Given the description of an element on the screen output the (x, y) to click on. 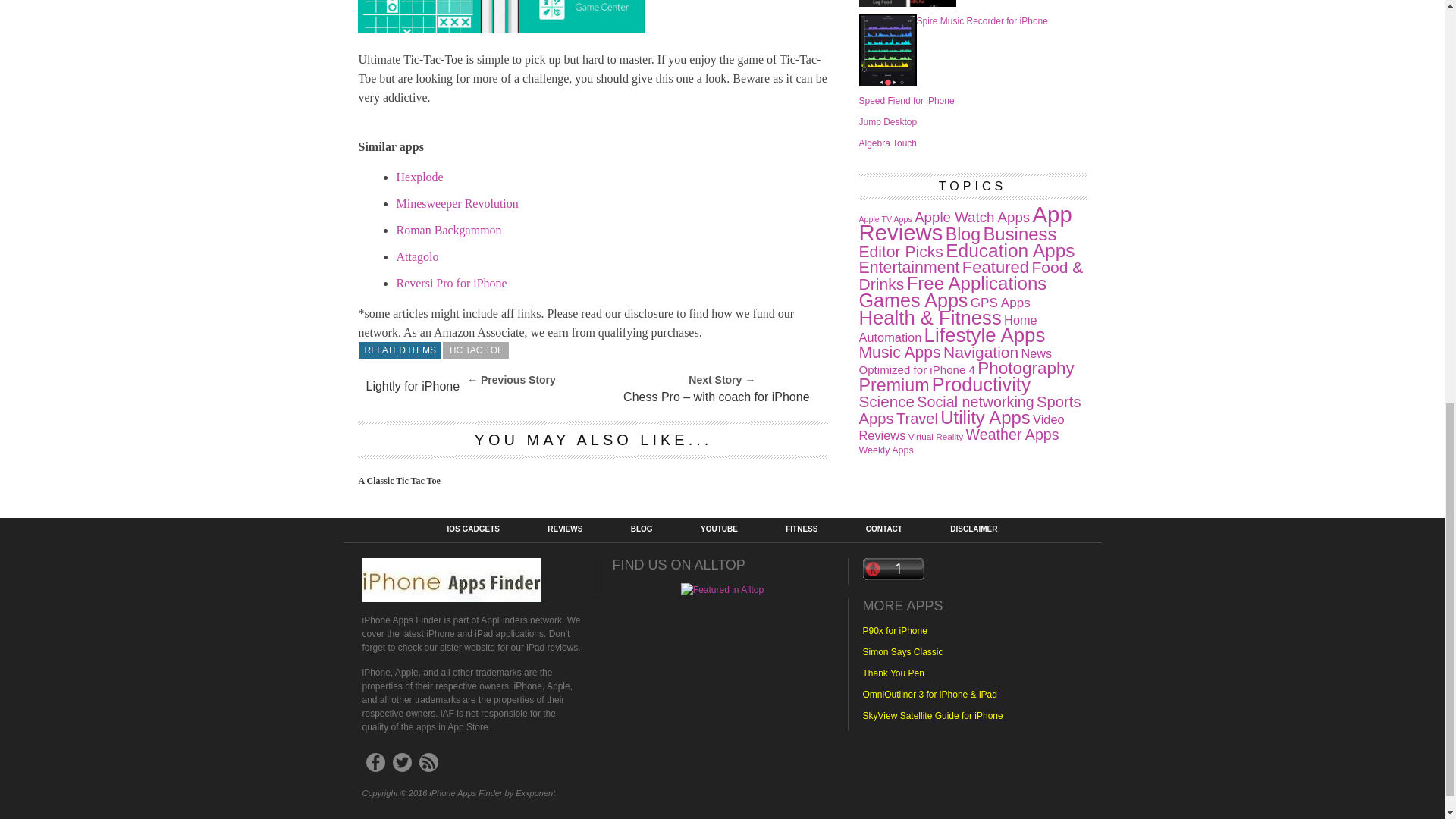
Attagolo (417, 256)
Roman Backgammon (448, 229)
Reversi Pro for iPhone (451, 282)
Hexplode (419, 176)
Minesweeper Revolution (457, 203)
